Given the description of an element on the screen output the (x, y) to click on. 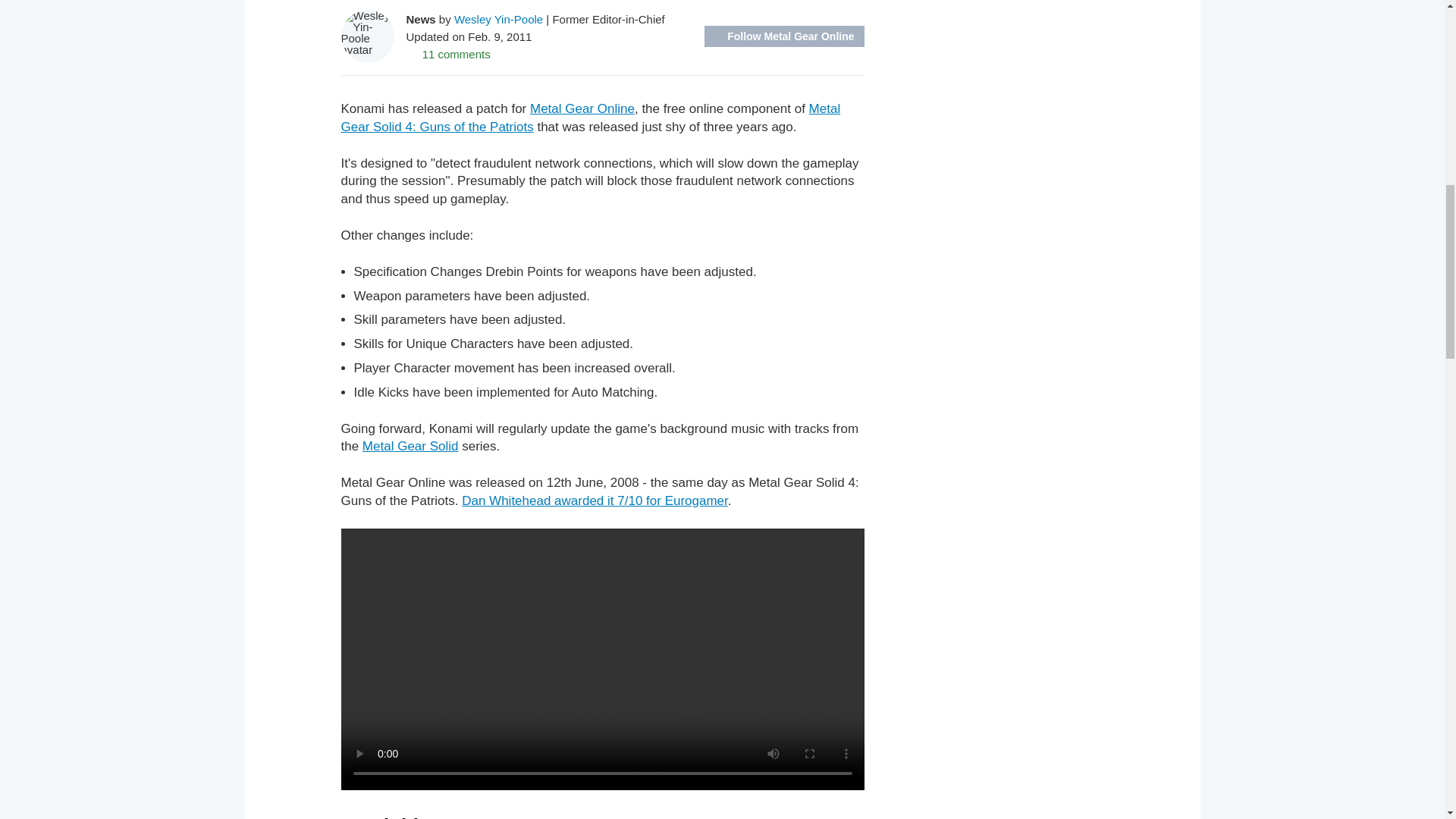
11 comments (448, 52)
Metal Gear Online (581, 108)
Wesley Yin-Poole (498, 18)
Follow Metal Gear Online (783, 35)
Metal Gear Solid 4: Guns of the Patriots (590, 117)
Metal Gear Solid (410, 445)
